Given the description of an element on the screen output the (x, y) to click on. 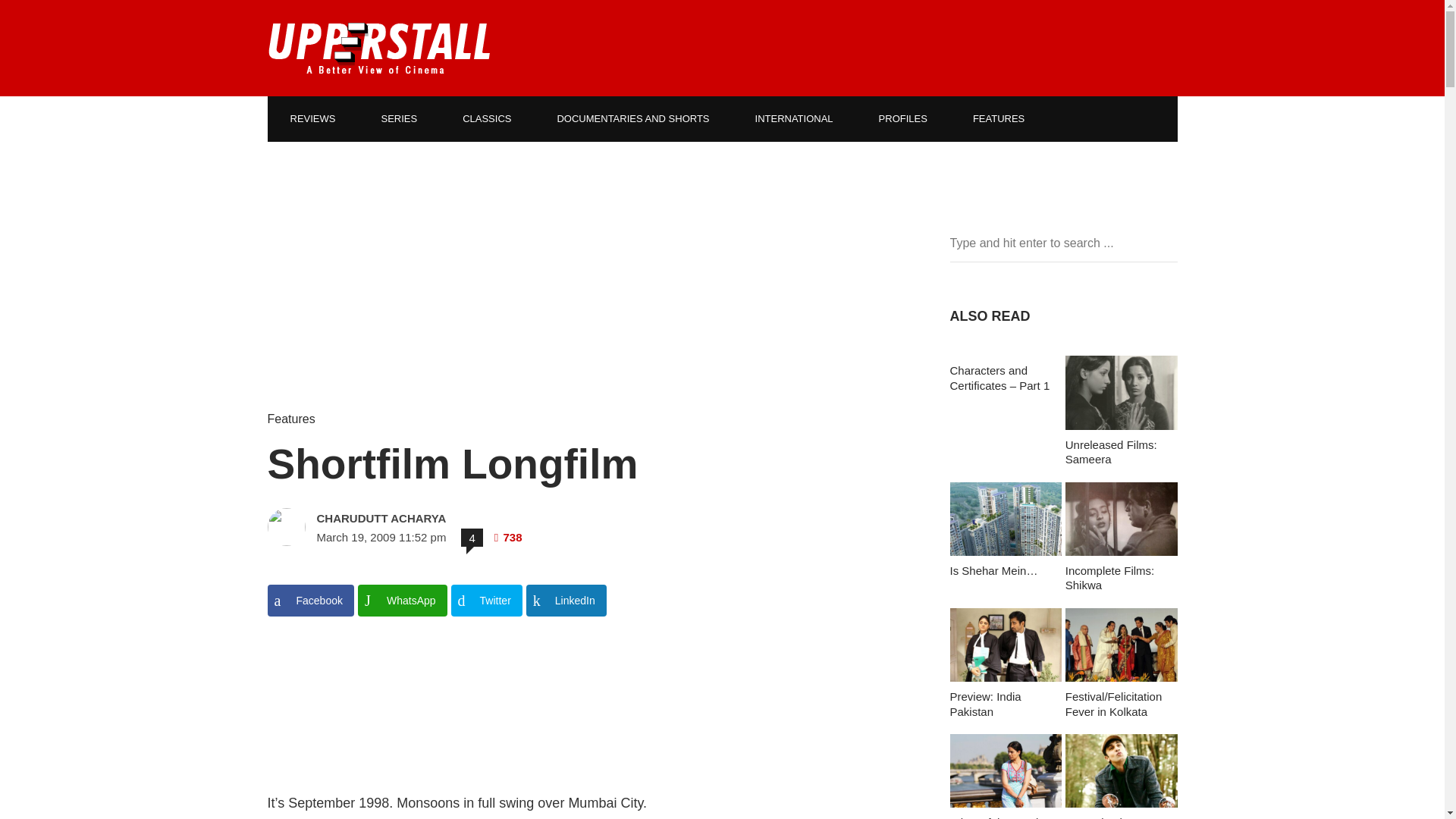
BY LANGUAGE (325, 164)
CLASSICS (486, 118)
Advertisement (585, 709)
Twitter (486, 600)
SERIES (398, 118)
DOCUMENTARIES AND SHORTS (633, 118)
Share on WhatsApp (402, 600)
LinkedIn (566, 600)
Type and hit enter to search ... (1062, 243)
CHARUDUTT ACHARYA (422, 517)
FEATURES (998, 118)
Share on Twitter (486, 600)
Facebook (309, 600)
View all posts by Charudutt Acharya (422, 517)
Views (508, 536)
